Given the description of an element on the screen output the (x, y) to click on. 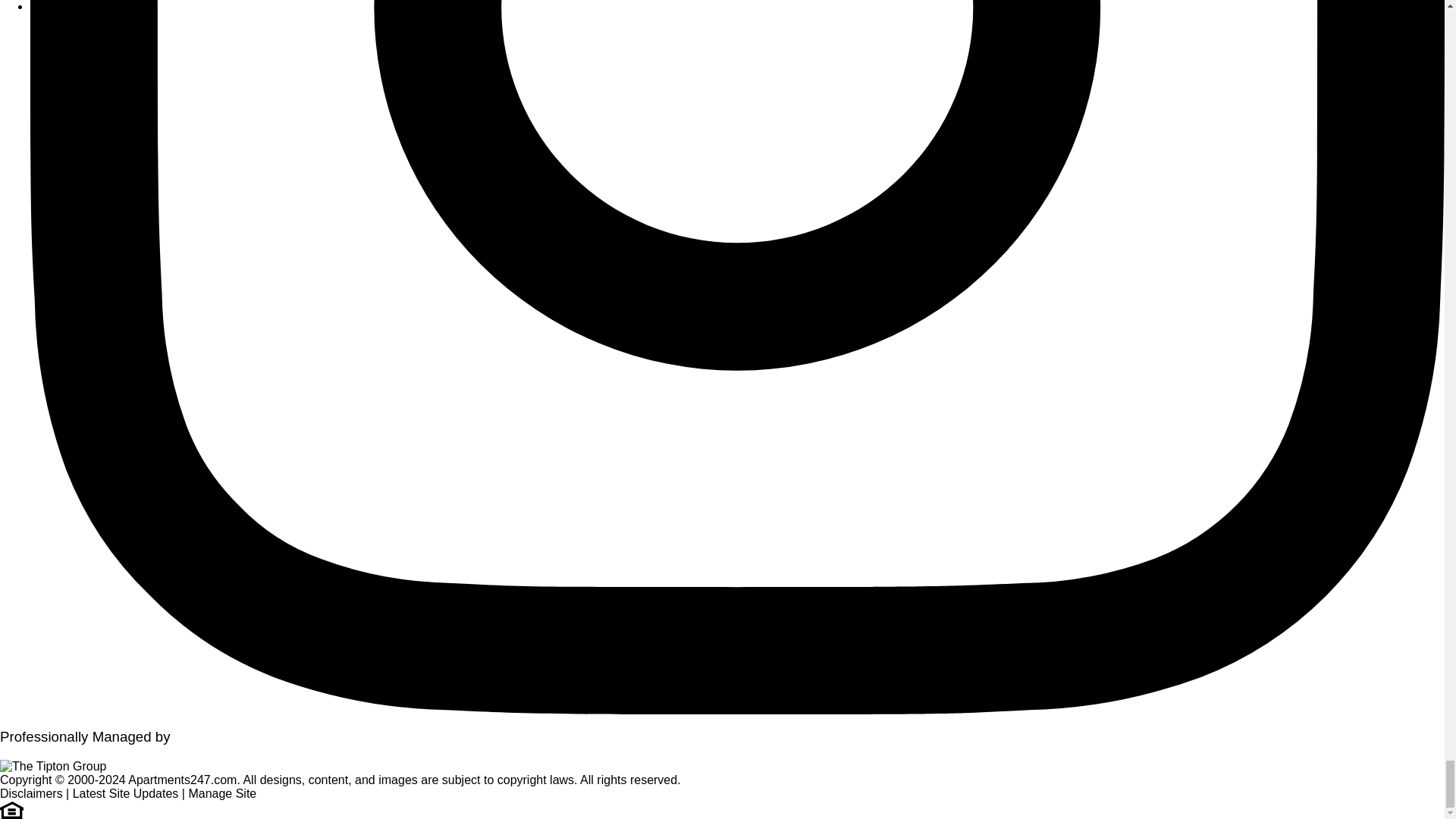
eho policy (11, 808)
The Tipton Group (53, 765)
Edit Webiste Content (221, 793)
